Given the description of an element on the screen output the (x, y) to click on. 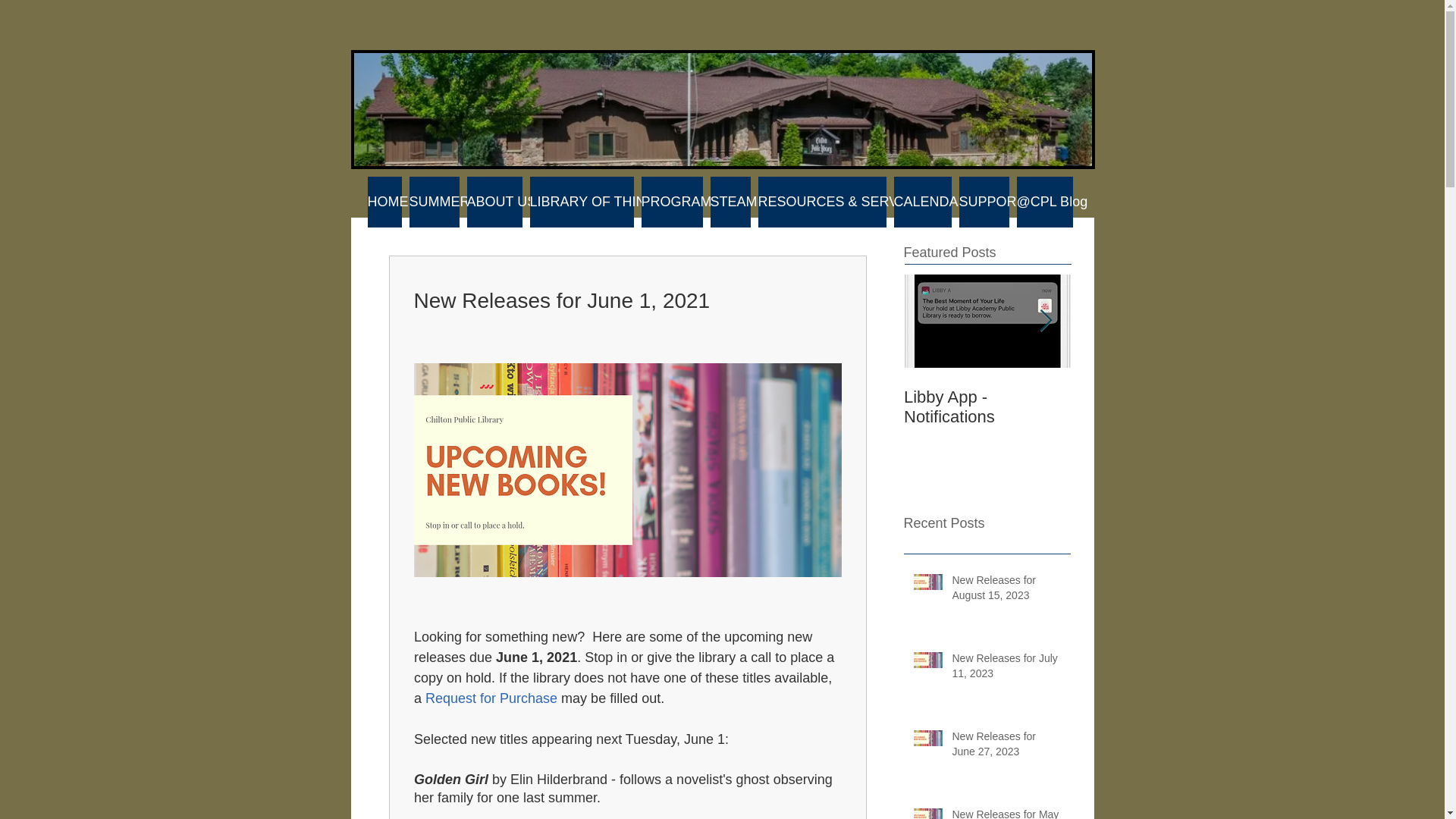
New Releases for July 11, 2023 (1006, 669)
New Releases for June 27, 2023 (1006, 746)
New Releases for May 23, 2023 (1006, 813)
Libby App - Notifications (987, 406)
building.jpg (722, 108)
2019 Community Read (1153, 406)
Request for Purchase (491, 698)
New Releases for August 15, 2023 (1006, 591)
